Given the description of an element on the screen output the (x, y) to click on. 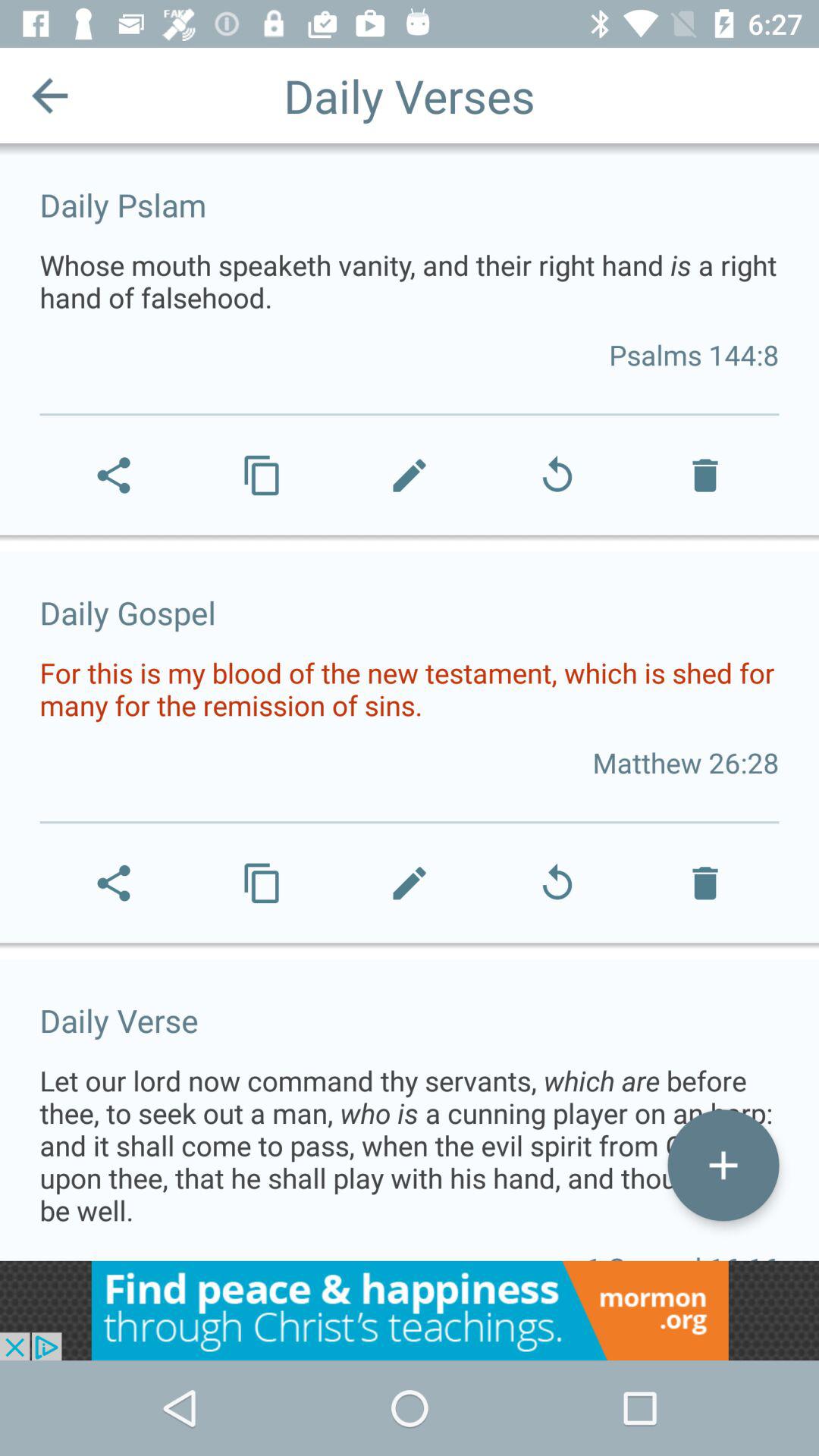
edit option (723, 1165)
